Given the description of an element on the screen output the (x, y) to click on. 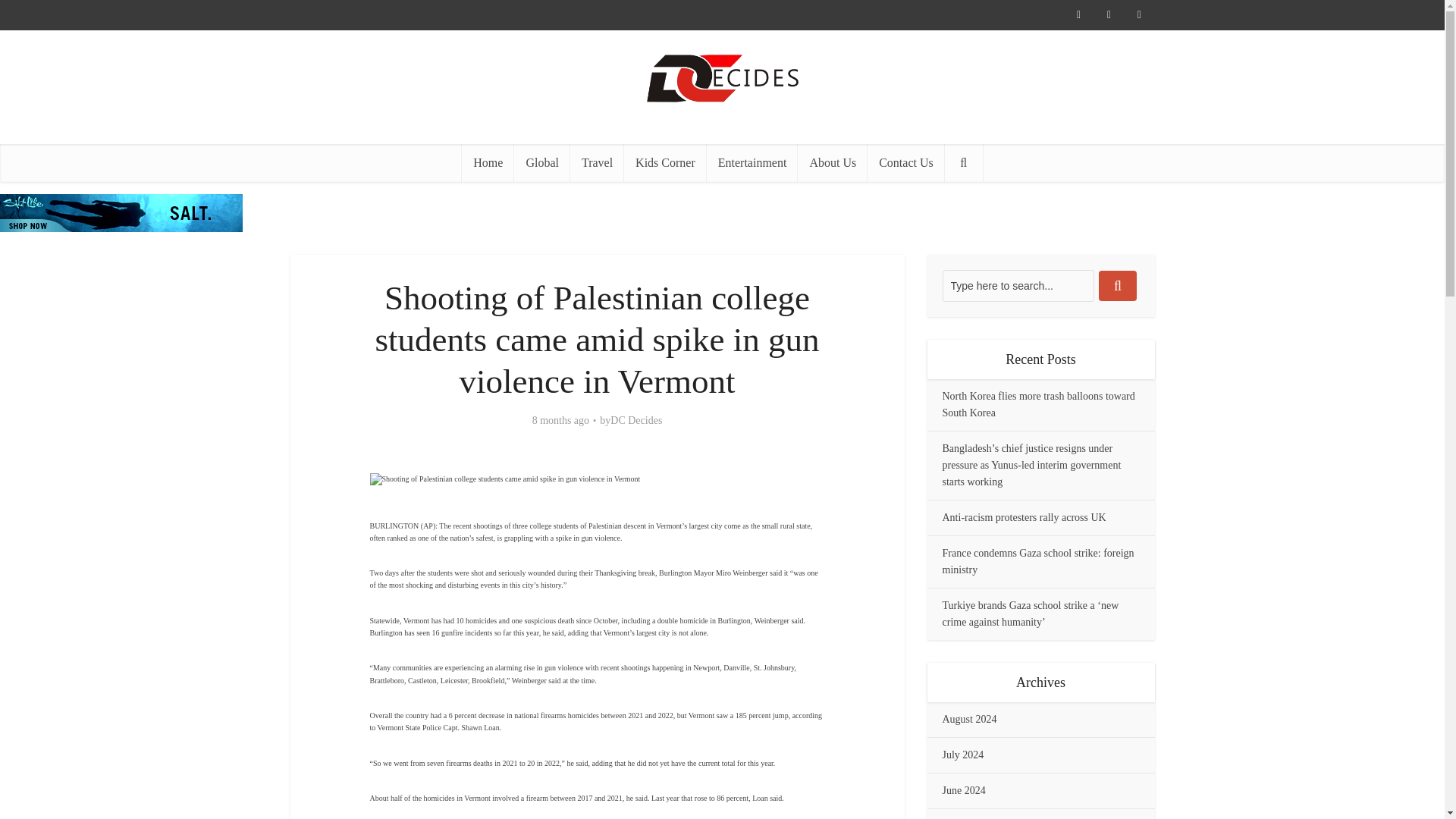
Type here to search... (1017, 286)
320x50 (121, 212)
Travel (597, 162)
Home (487, 162)
Type here to search... (1017, 286)
About Us (832, 162)
DC Decides (636, 420)
Global (541, 162)
8 months ago (560, 420)
